Given the description of an element on the screen output the (x, y) to click on. 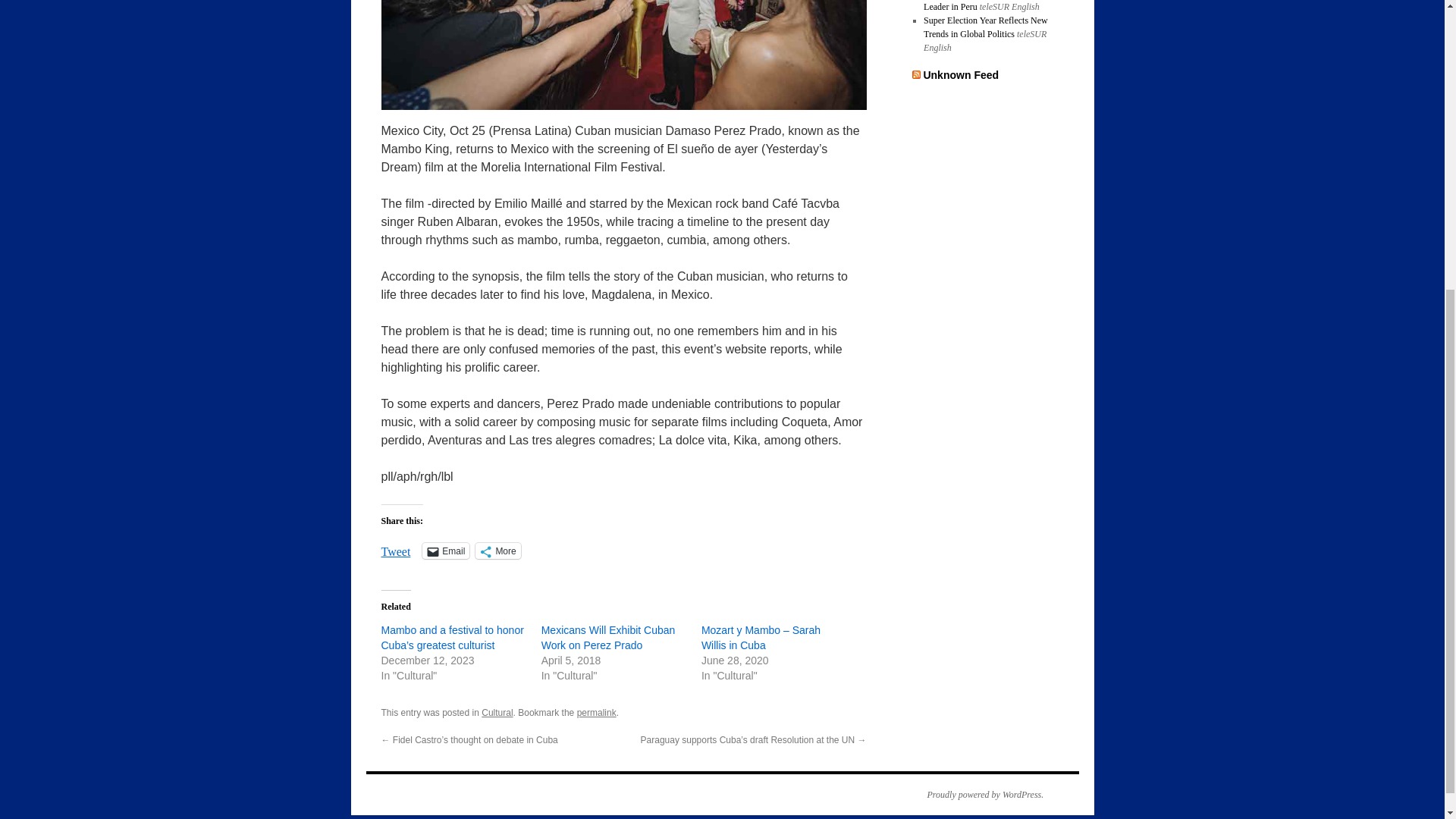
Unknown Feed (960, 74)
More (497, 550)
Proudly powered by WordPress. (977, 794)
Mexicans Will Exhibit Cuban Work on Perez Prado (608, 637)
permalink (595, 712)
Cultural (496, 712)
Mexicans Will Exhibit Cuban Work on Perez Prado (608, 637)
Super Election Year Reflects New Trends in Global Politics (985, 27)
Gunman Kills Construction Union Leader in Peru (986, 6)
Email (445, 550)
